Given the description of an element on the screen output the (x, y) to click on. 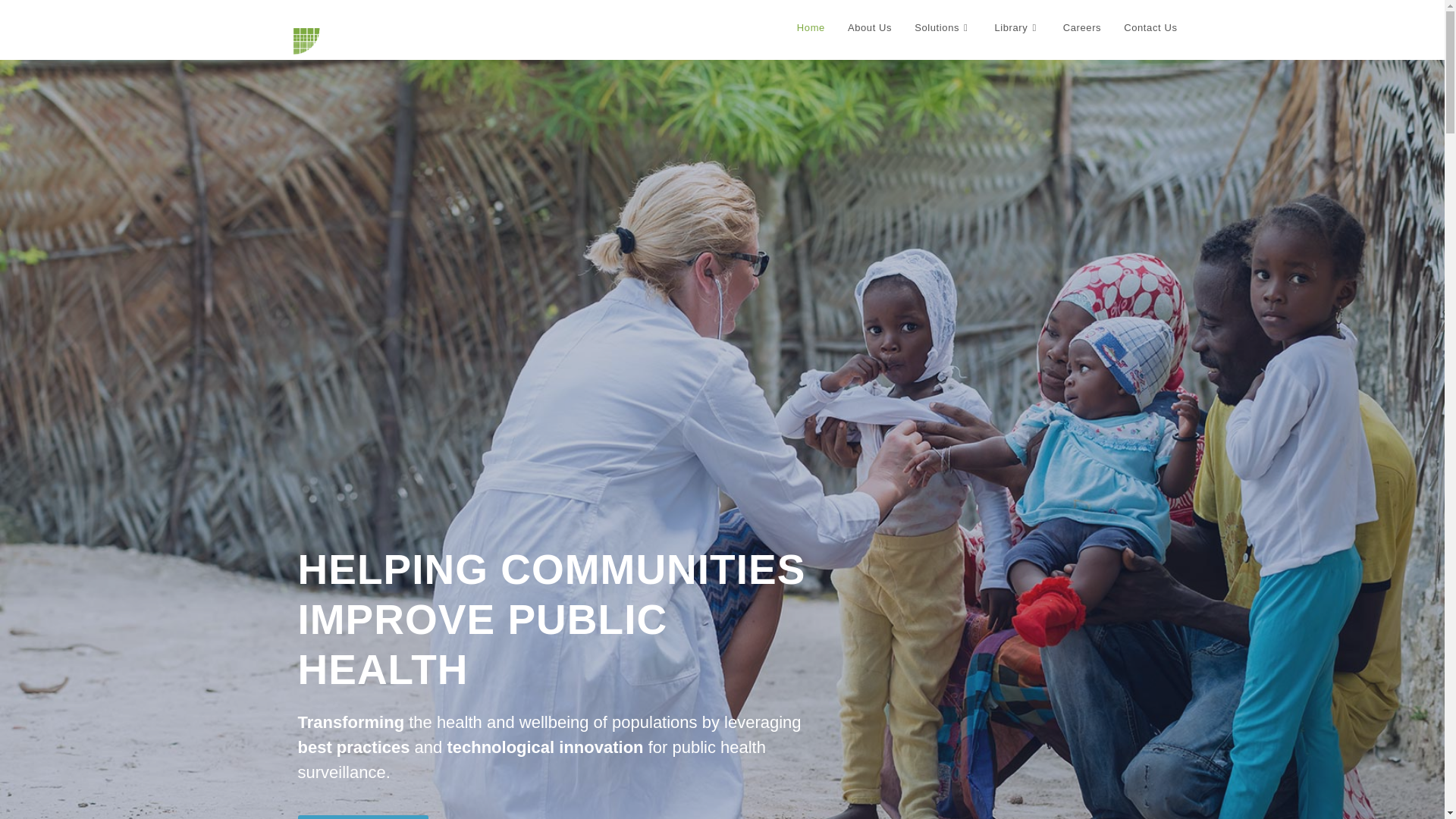
LEARN MORE (362, 816)
About Us (868, 28)
Library (1016, 28)
Solutions (942, 28)
Contact Us (1150, 28)
Careers (1081, 28)
Home (810, 28)
